Given the description of an element on the screen output the (x, y) to click on. 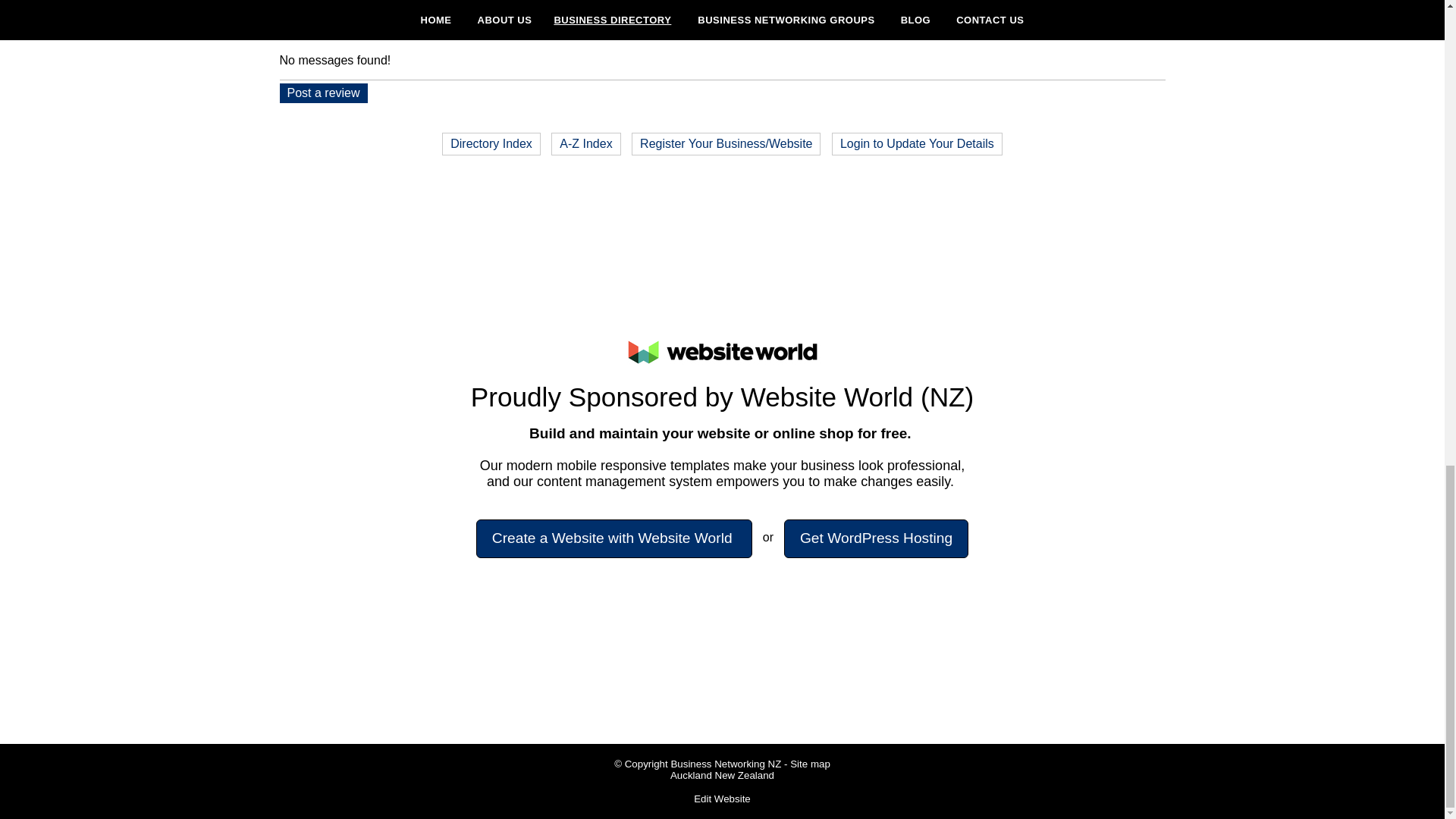
Post a review (322, 93)
